Given the description of an element on the screen output the (x, y) to click on. 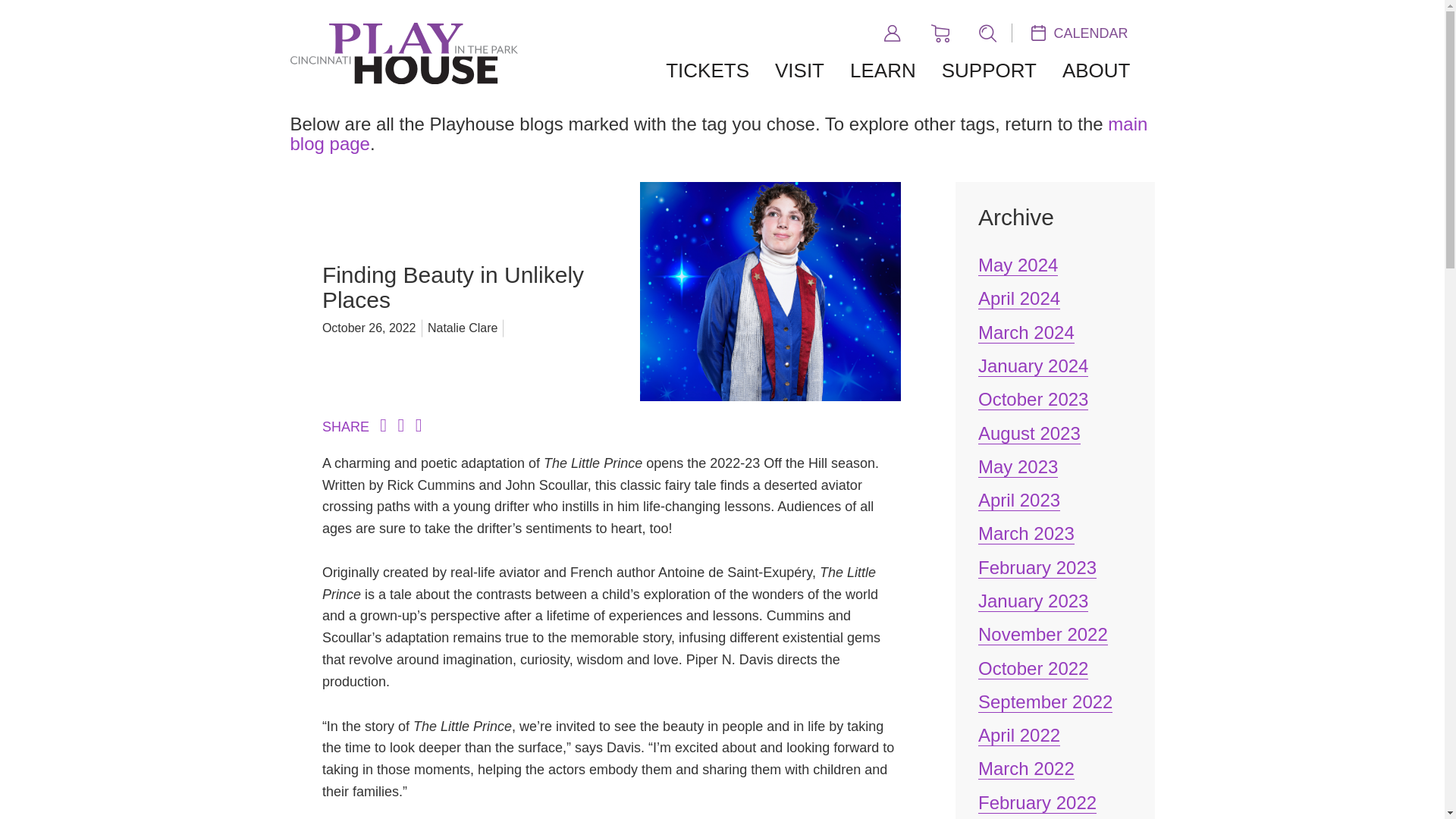
SUPPORT (988, 70)
TICKETS (706, 70)
VISIT (799, 70)
ABOUT (1095, 70)
LEARN (882, 70)
CALENDAR (1079, 31)
